Given the description of an element on the screen output the (x, y) to click on. 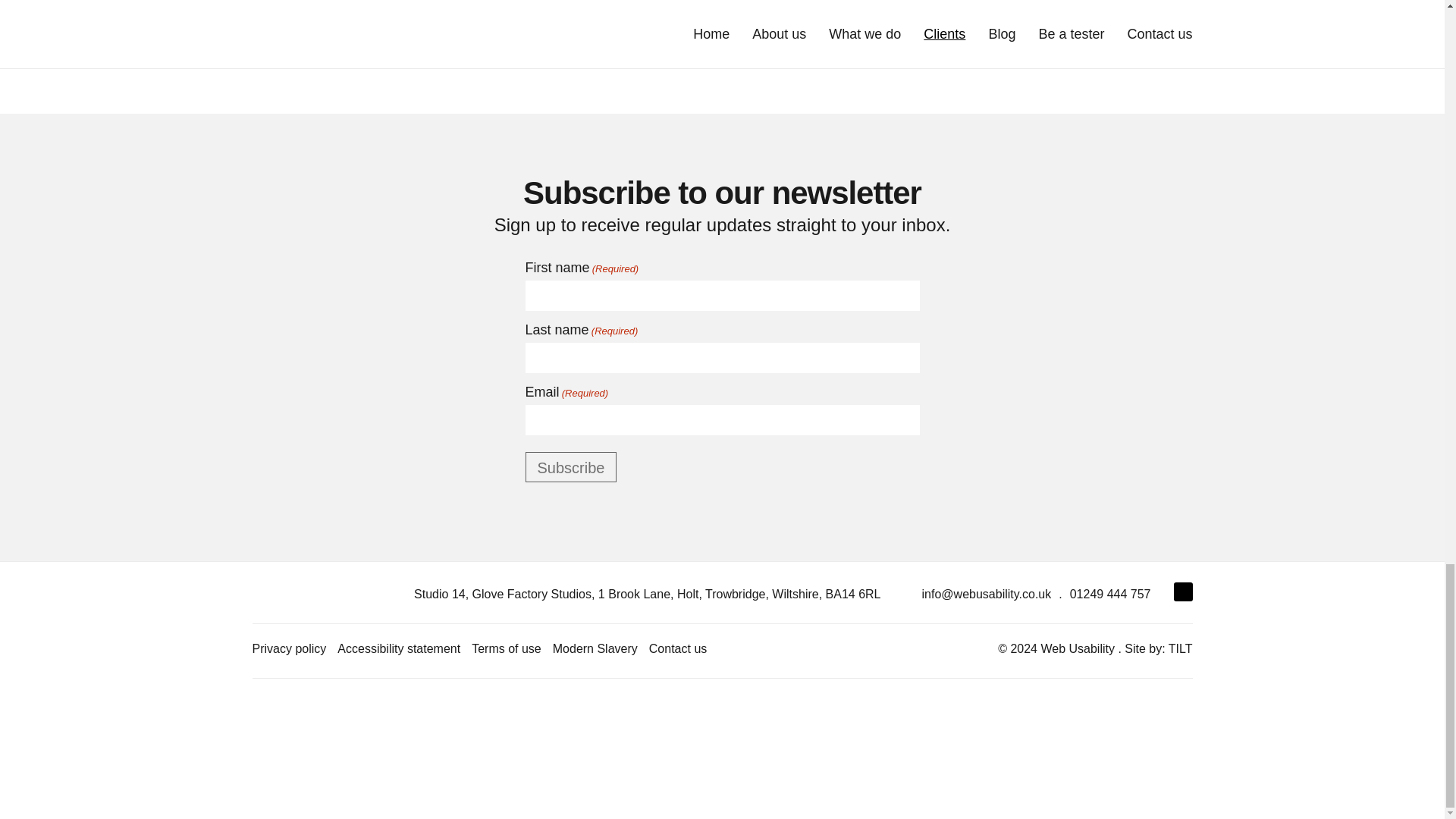
Accessibility statement (398, 648)
Crown Commercial Service Supplier (776, 746)
Contact us (677, 648)
Terms of use (506, 648)
Subscribe (569, 467)
Modern Slavery (595, 648)
TILT Digital Agency Kent (1158, 648)
Subscribe (569, 467)
Privacy policy (288, 648)
01249 444 757 (1110, 594)
